Given the description of an element on the screen output the (x, y) to click on. 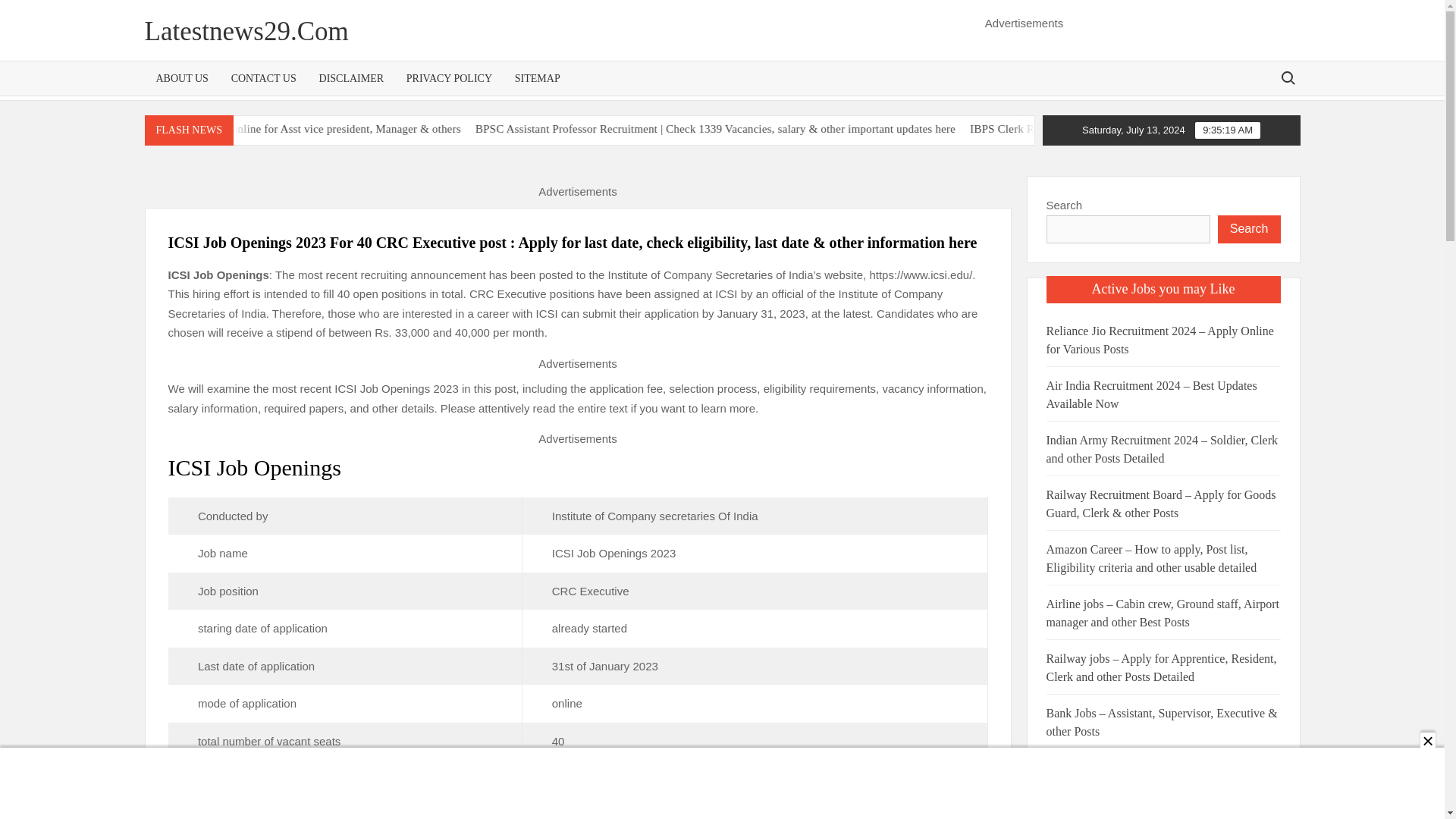
Latestnews29.Com (245, 30)
DISCLAIMER (351, 78)
SITEMAP (537, 78)
CONTACT US (263, 78)
ABOUT US (181, 78)
PRIVACY POLICY (448, 78)
Search for: (1287, 77)
